Given the description of an element on the screen output the (x, y) to click on. 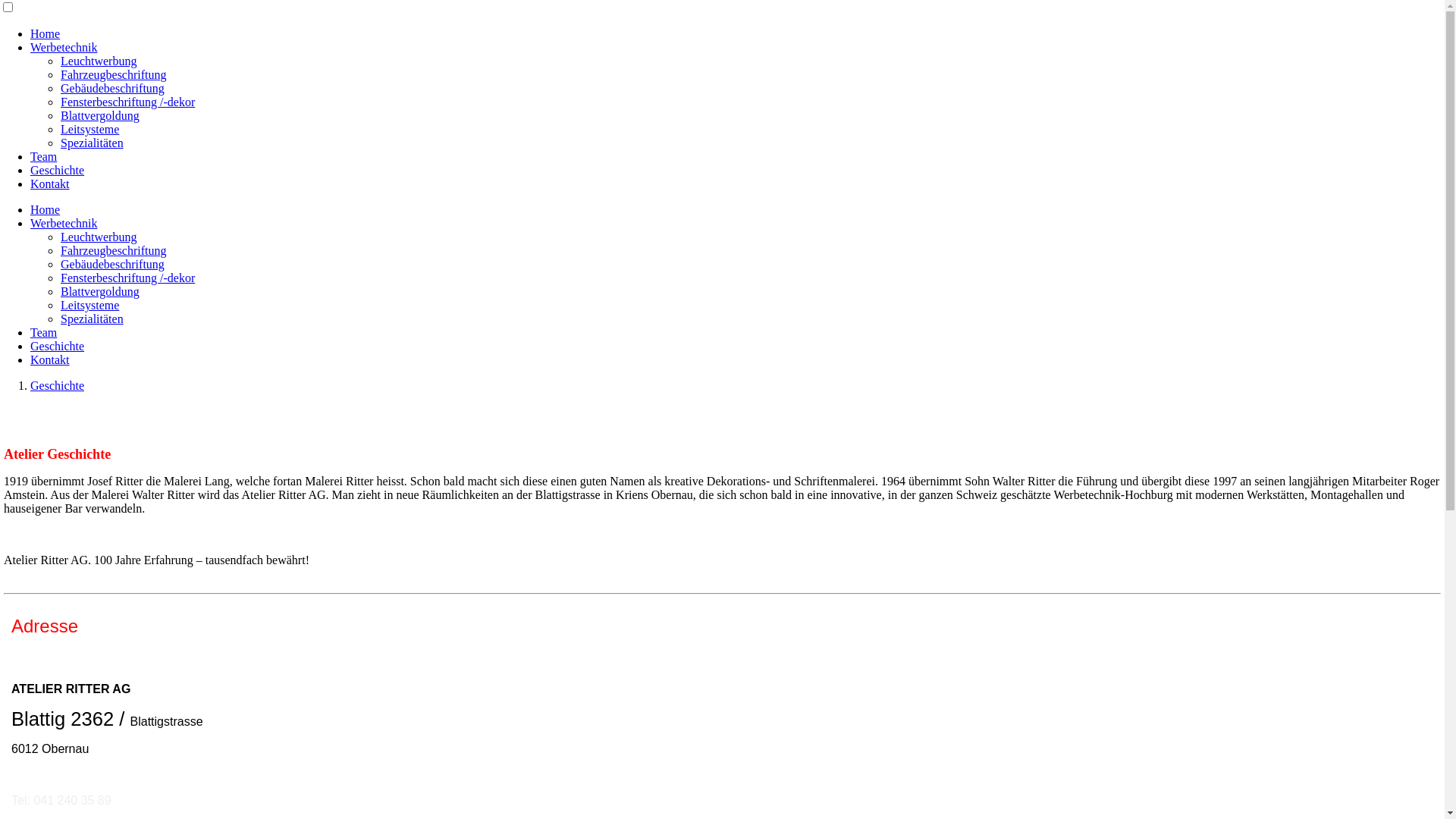
Fensterbeschriftung /-dekor Element type: text (127, 101)
Fahrzeugbeschriftung Element type: text (113, 250)
Team Element type: text (43, 332)
Fahrzeugbeschriftung Element type: text (113, 74)
Blattvergoldung Element type: text (99, 115)
Leitsysteme Element type: text (89, 304)
Geschichte Element type: text (57, 385)
Fensterbeschriftung /-dekor Element type: text (127, 277)
Leuchtwerbung Element type: text (98, 60)
Leuchtwerbung Element type: text (98, 236)
Team Element type: text (43, 156)
Werbetechnik Element type: text (63, 46)
Home Element type: text (44, 33)
Kontakt Element type: text (49, 359)
Home Element type: text (44, 209)
Geschichte Element type: text (57, 345)
Leitsysteme Element type: text (89, 128)
Geschichte Element type: text (57, 169)
Blattvergoldung Element type: text (99, 291)
Kontakt Element type: text (49, 183)
Werbetechnik Element type: text (63, 222)
